Given the description of an element on the screen output the (x, y) to click on. 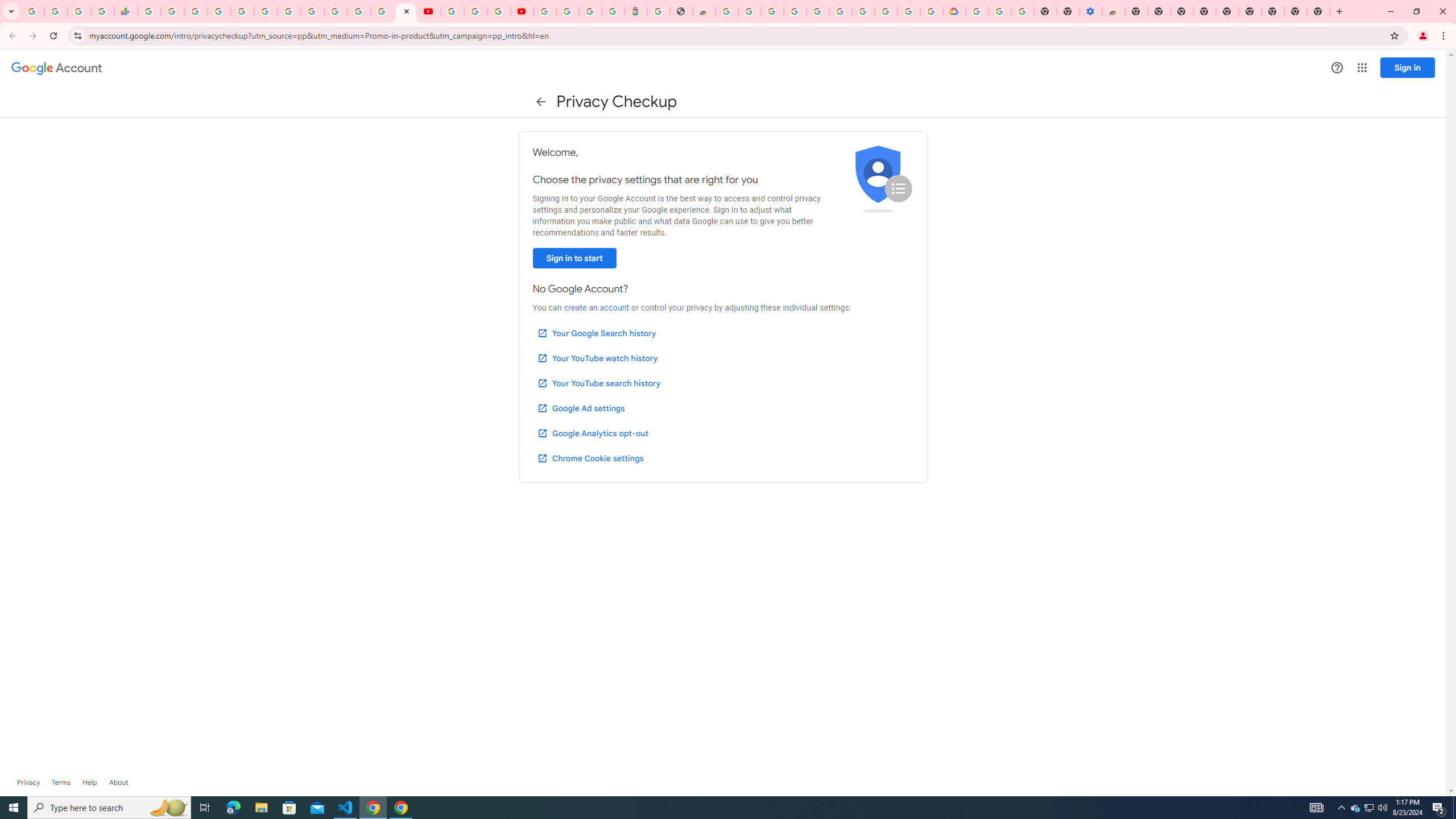
Your YouTube search history (598, 383)
Android TV Policies and Guidelines - Transparency Center (288, 11)
Chrome Web Store - Household (703, 11)
Sign in - Google Accounts (567, 11)
Ad Settings (794, 11)
Chrome Cookie settings (589, 457)
Google Account Help (863, 11)
